Given the description of an element on the screen output the (x, y) to click on. 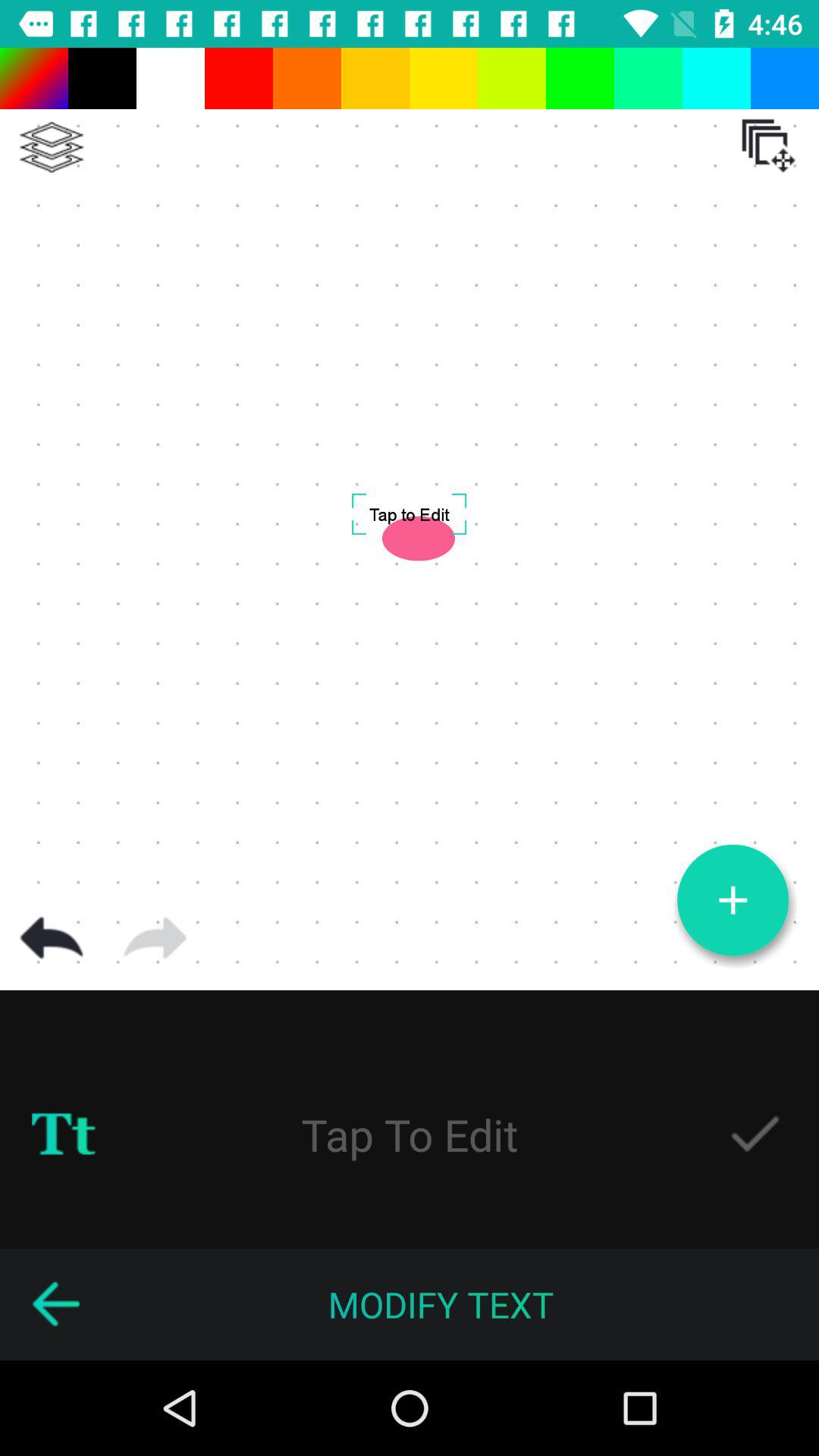
compile option (51, 147)
